Given the description of an element on the screen output the (x, y) to click on. 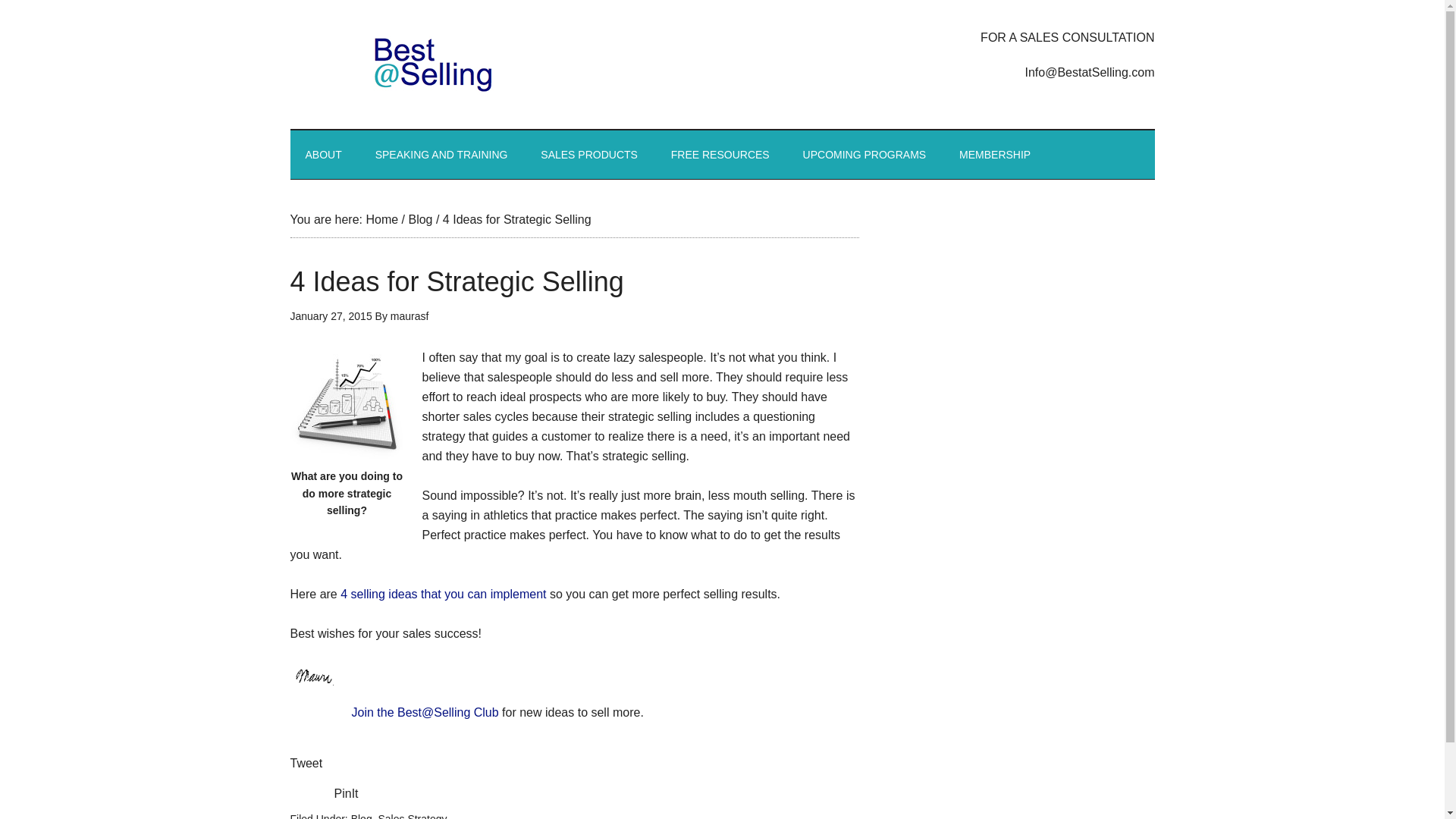
MEMBERSHIP (994, 154)
Blog (419, 219)
PinIt (345, 793)
ABOUT (322, 154)
4 selling ideas that you can implement (443, 594)
maurasf (409, 316)
Home (381, 219)
UPCOMING PROGRAMS (864, 154)
Tweet (305, 762)
FREE RESOURCES (720, 154)
